Given the description of an element on the screen output the (x, y) to click on. 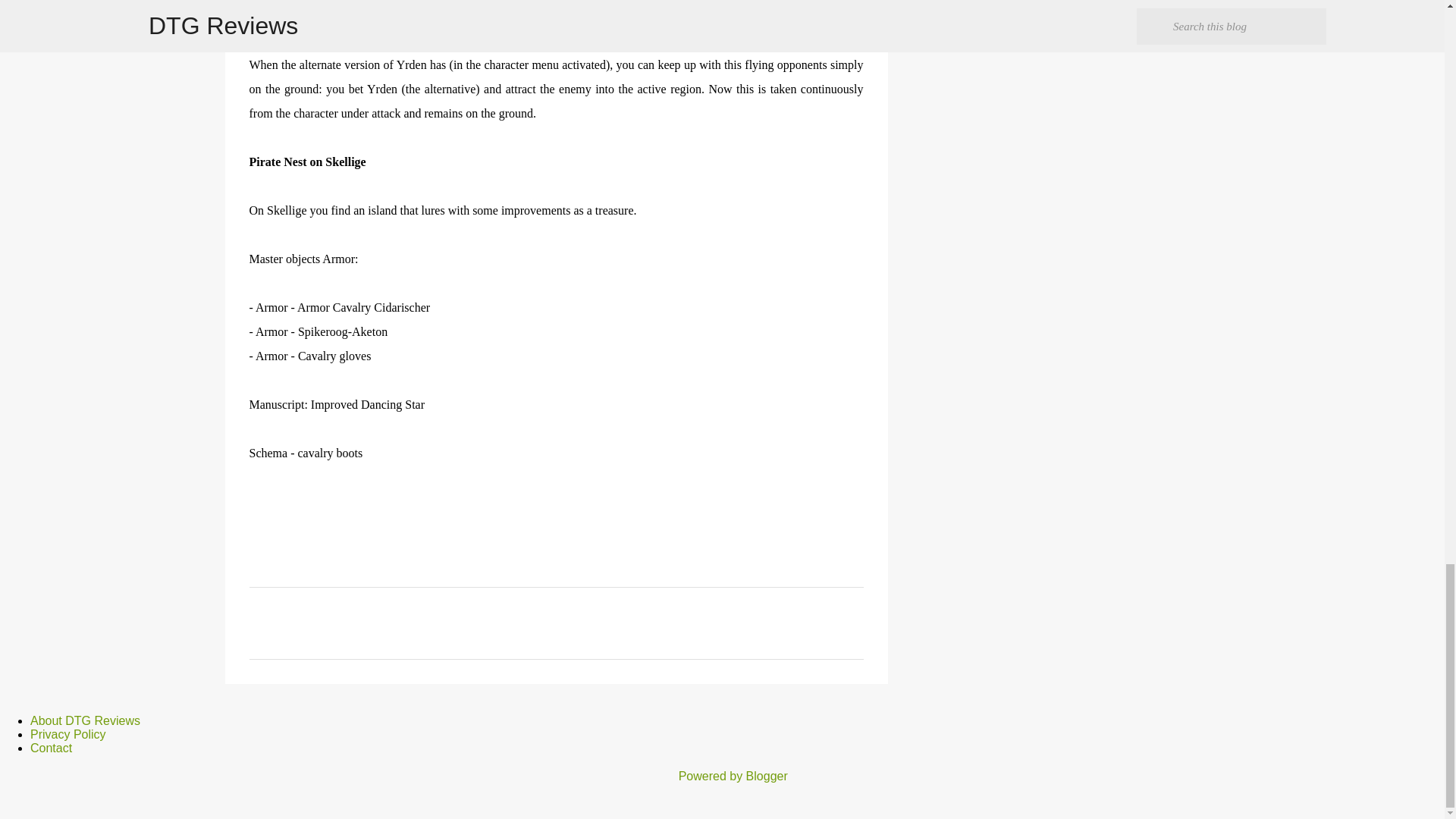
Privacy Policy (68, 734)
Powered by Blogger (721, 775)
Contact (50, 748)
About DTG Reviews (84, 720)
